Given the description of an element on the screen output the (x, y) to click on. 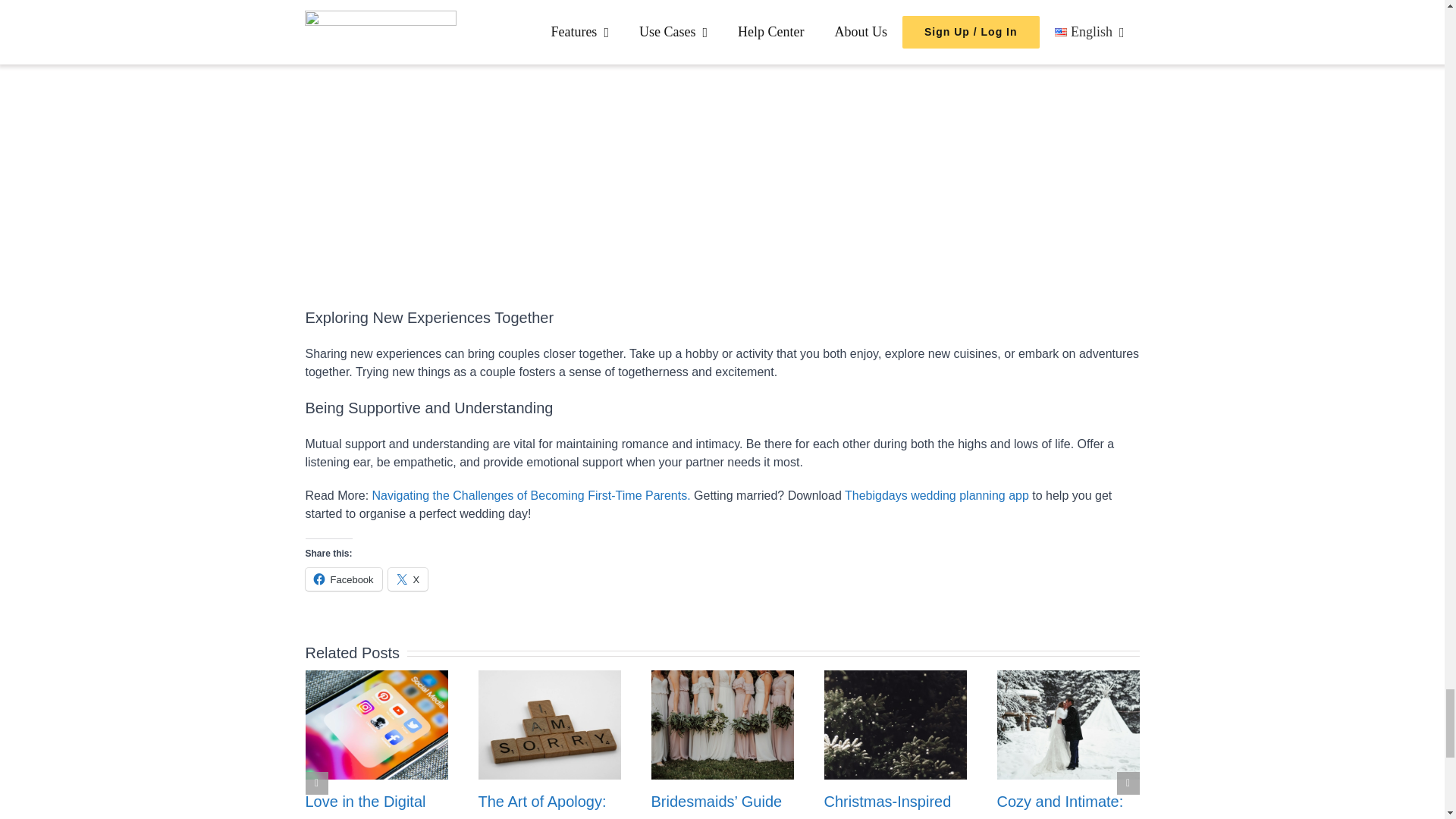
Christmas-Inspired Wedding Themes: From Classic to Whimsical (887, 806)
Cozy and Intimate: Planning a Romantic Winter Wedding (1066, 806)
Click to share on Facebook (342, 579)
Click to share on X (408, 579)
